Given the description of an element on the screen output the (x, y) to click on. 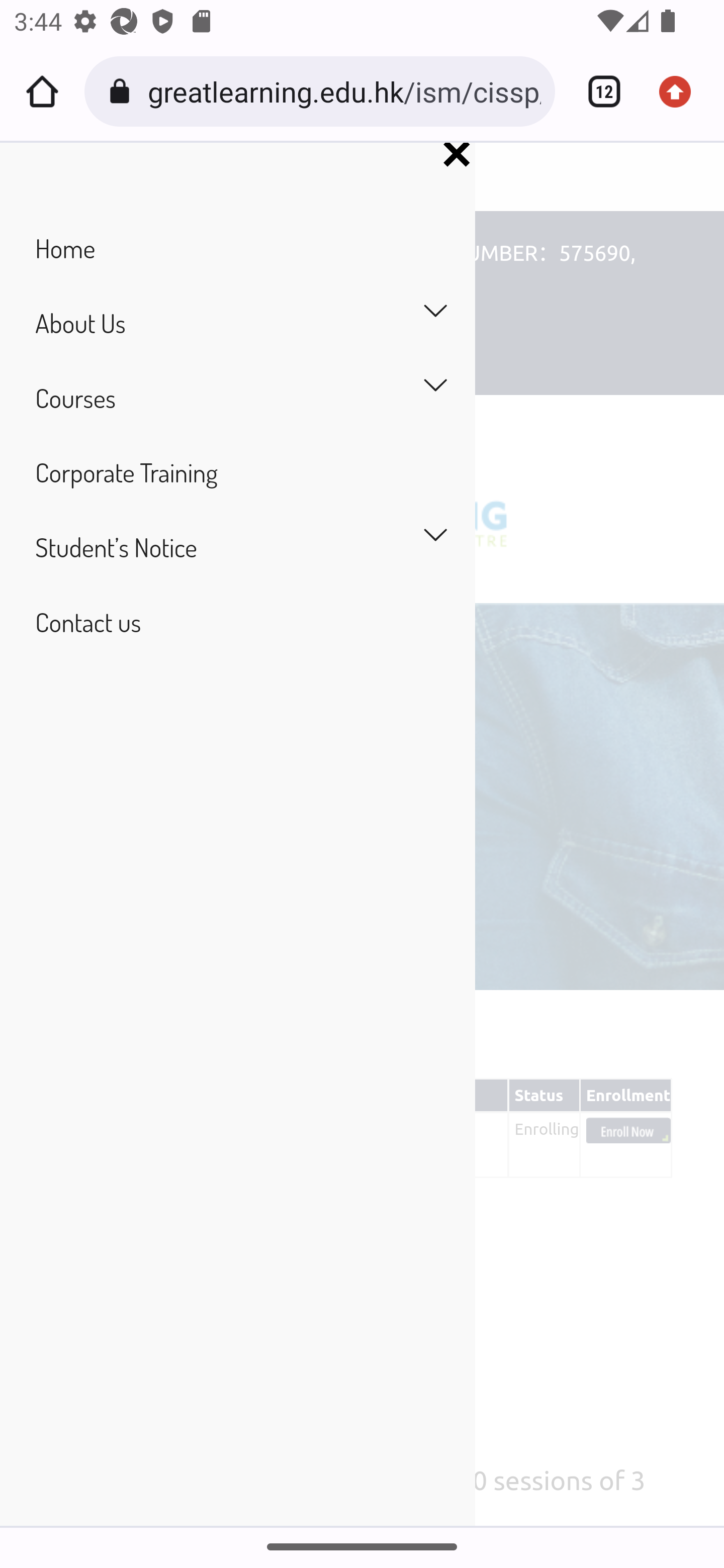
Home (42, 91)
Connection is secure (122, 91)
Switch or close tabs (597, 91)
Update available. More options (681, 91)
 (455, 155)
Home (237, 248)
About Us (237, 323)
Courses (237, 397)
Corporate Training (237, 472)
Student’s Notice (237, 546)
Contact us (237, 622)
